Given the description of an element on the screen output the (x, y) to click on. 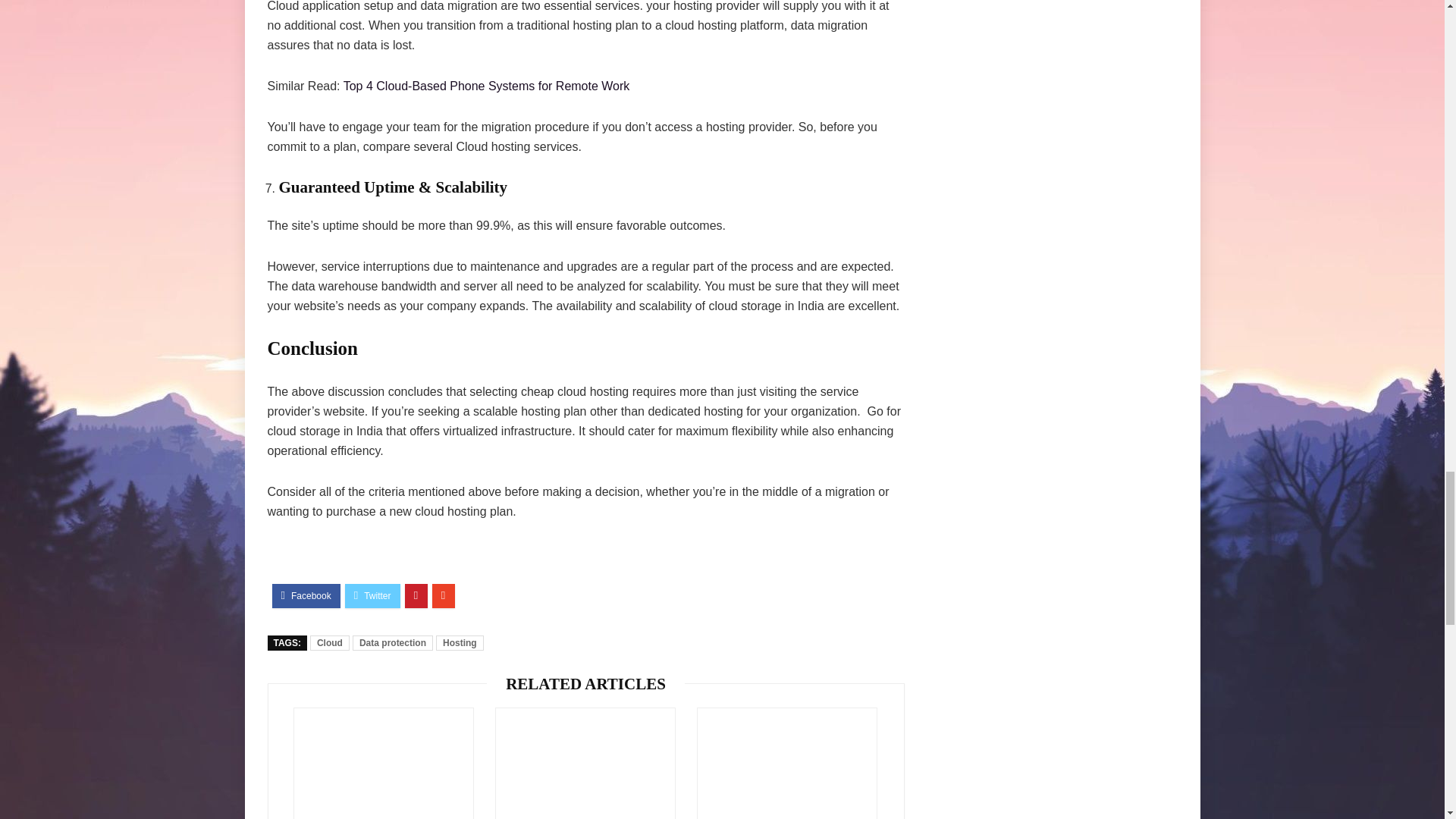
Hosting (459, 642)
Cloud (329, 642)
Data protection (392, 642)
Top 4 Cloud-Based Phone Systems for Remote Work (486, 85)
